Given the description of an element on the screen output the (x, y) to click on. 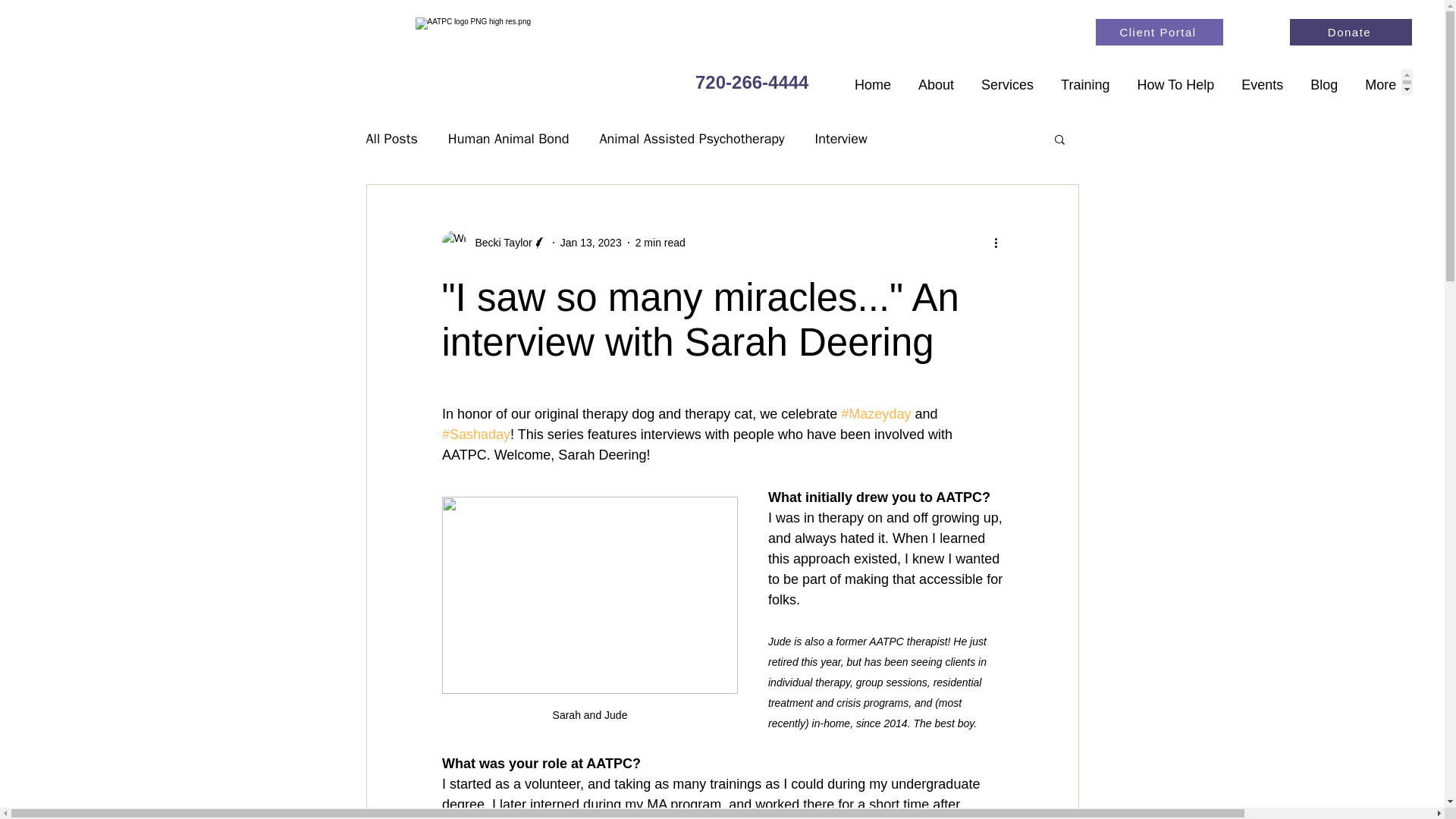
About (936, 81)
Client Portal (1159, 31)
Home (872, 81)
Events (1262, 81)
2 min read (659, 242)
Training (1084, 81)
Becki Taylor (498, 242)
Blog (1324, 81)
How To Help (1174, 81)
Donate (1351, 31)
